Given the description of an element on the screen output the (x, y) to click on. 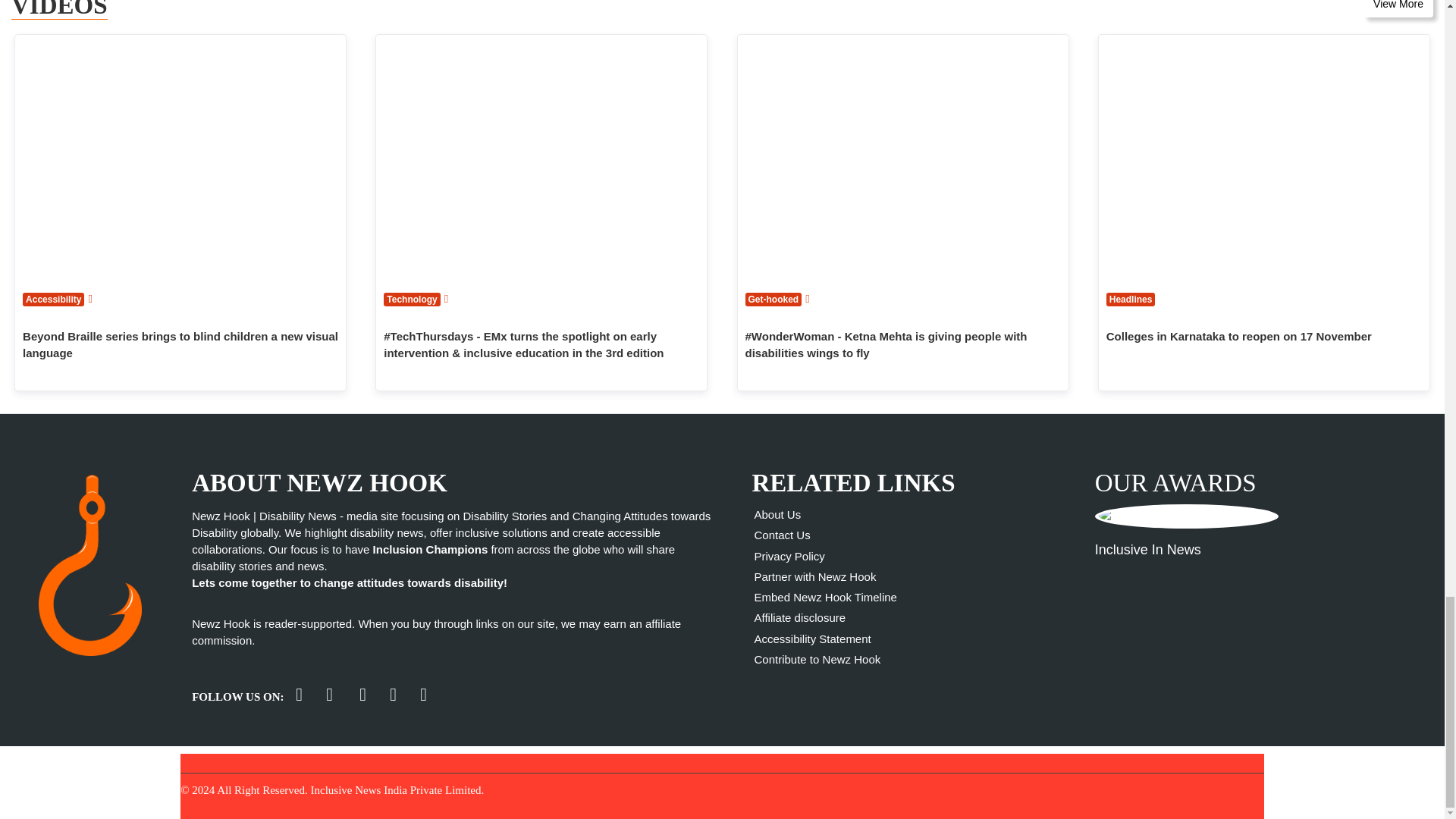
Sign Language (89, 297)
Colleges in Karnataka to reopen on 17 November (1264, 158)
Sign Language (807, 297)
Newz Hook on X (298, 694)
Sign Language (446, 297)
